Given the description of an element on the screen output the (x, y) to click on. 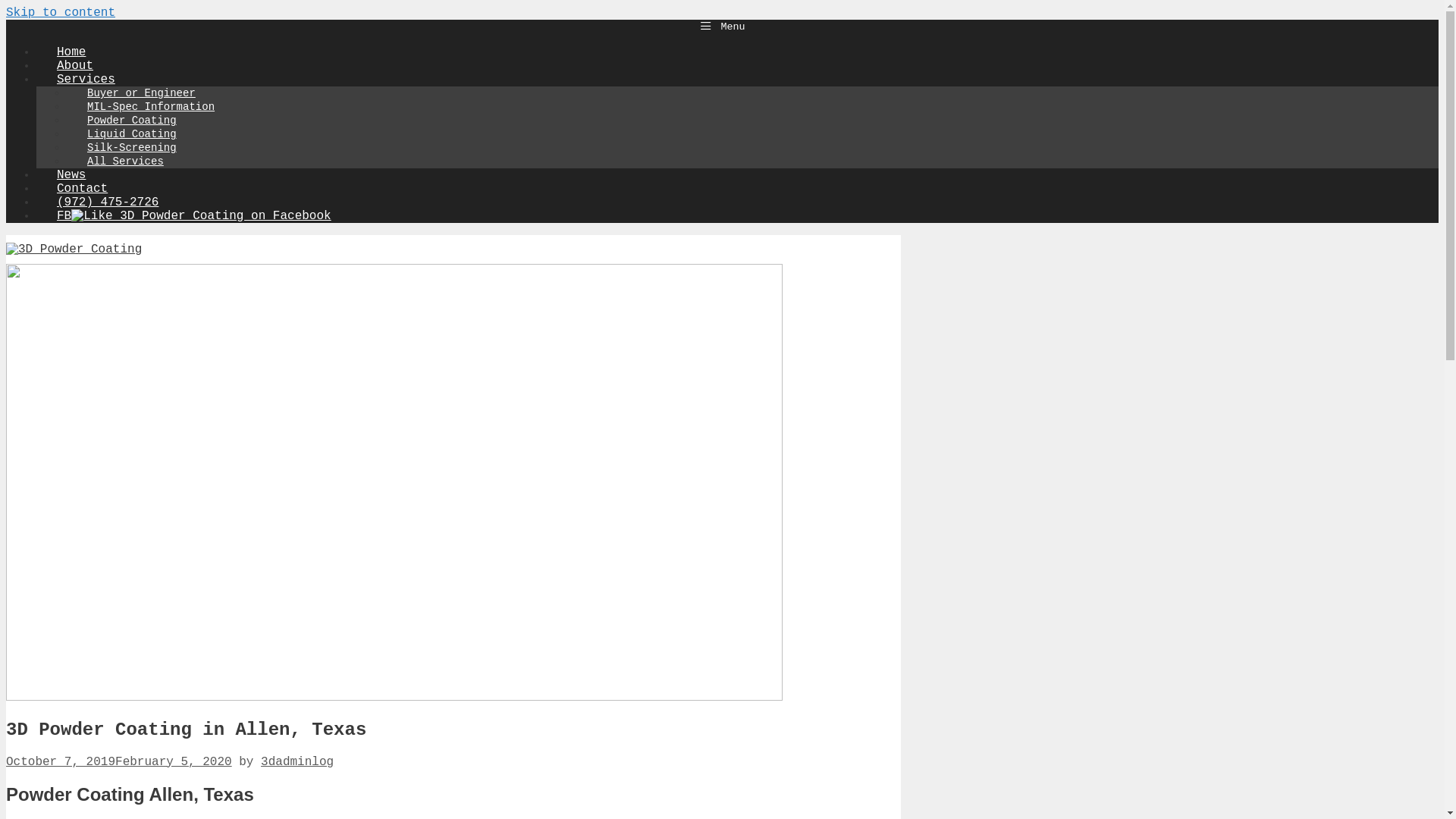
Skip to content Element type: text (60, 12)
Home Element type: text (71, 52)
All Services Element type: text (125, 161)
(972) 475-2726 Element type: text (107, 202)
Buyer or Engineer Element type: text (141, 92)
October 7, 2019February 5, 2020 Element type: text (119, 761)
Contact Element type: text (82, 188)
Liquid Coating Element type: text (131, 133)
About Element type: text (74, 65)
News Element type: text (71, 175)
3D Powder Coating Element type: hover (73, 249)
3dadminlog Element type: text (296, 761)
FB Element type: text (193, 215)
Powder Coating Element type: text (131, 120)
Services Element type: text (96, 79)
MIL-Spec Information Element type: text (150, 106)
Silk-Screening Element type: text (131, 147)
Menu Element type: text (722, 26)
